Given the description of an element on the screen output the (x, y) to click on. 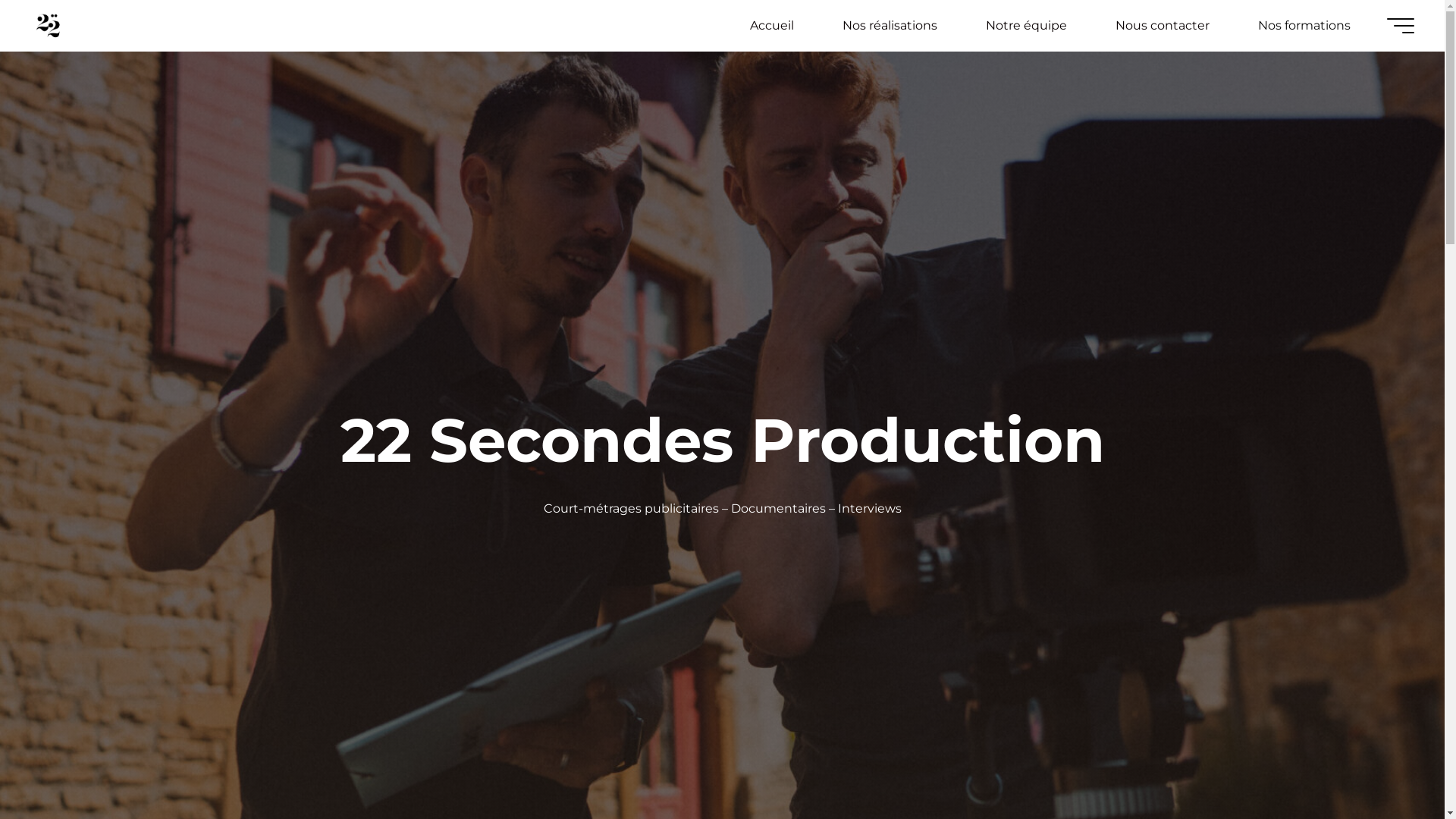
Nos formations Element type: text (1303, 25)
Accueil Element type: text (771, 25)
22 Secondes Production Element type: hover (48, 25)
Nous contacter Element type: text (1162, 25)
Lire la suite Element type: hover (721, 778)
